Given the description of an element on the screen output the (x, y) to click on. 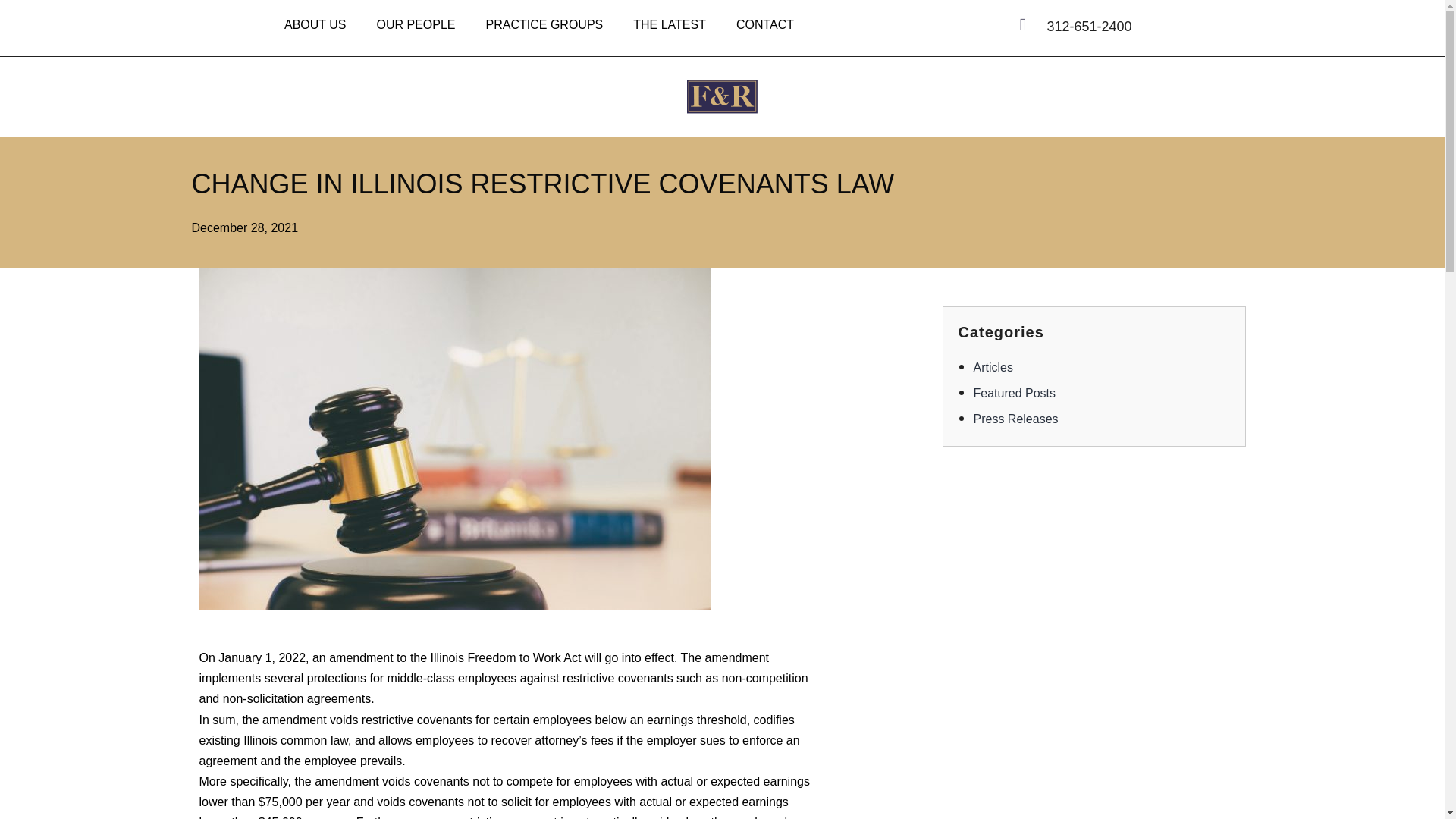
Featured Posts (1015, 392)
CONTACT (764, 24)
December 28, 2021 (244, 227)
Articles (993, 367)
THE LATEST (668, 24)
PRACTICE GROUPS (544, 24)
ABOUT US (315, 24)
OUR PEOPLE (415, 24)
Press Releases (1016, 418)
